Given the description of an element on the screen output the (x, y) to click on. 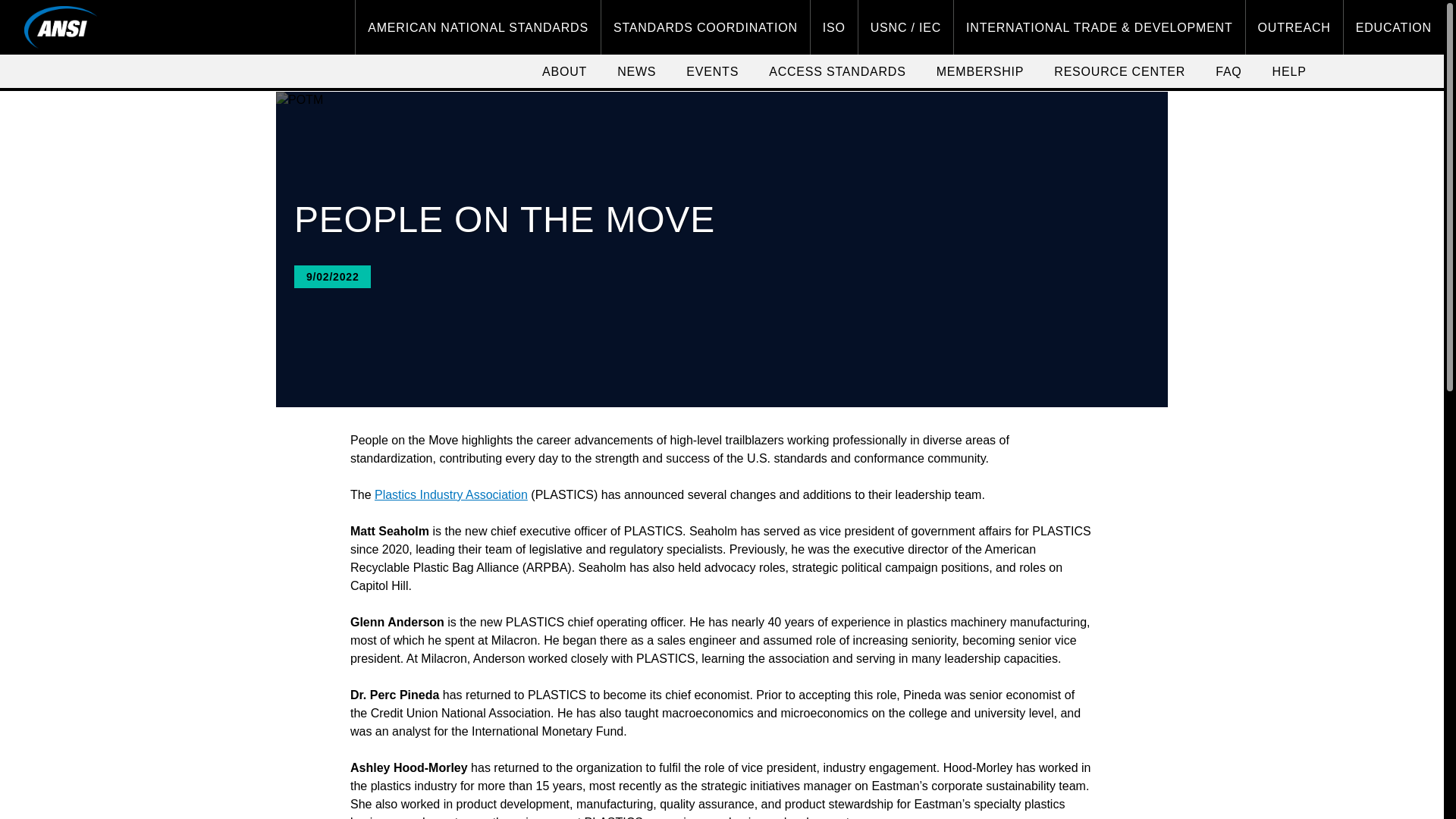
STANDARDS COORDINATION (705, 27)
AMERICAN NATIONAL STANDARDS (477, 27)
Home (60, 26)
